Given the description of an element on the screen output the (x, y) to click on. 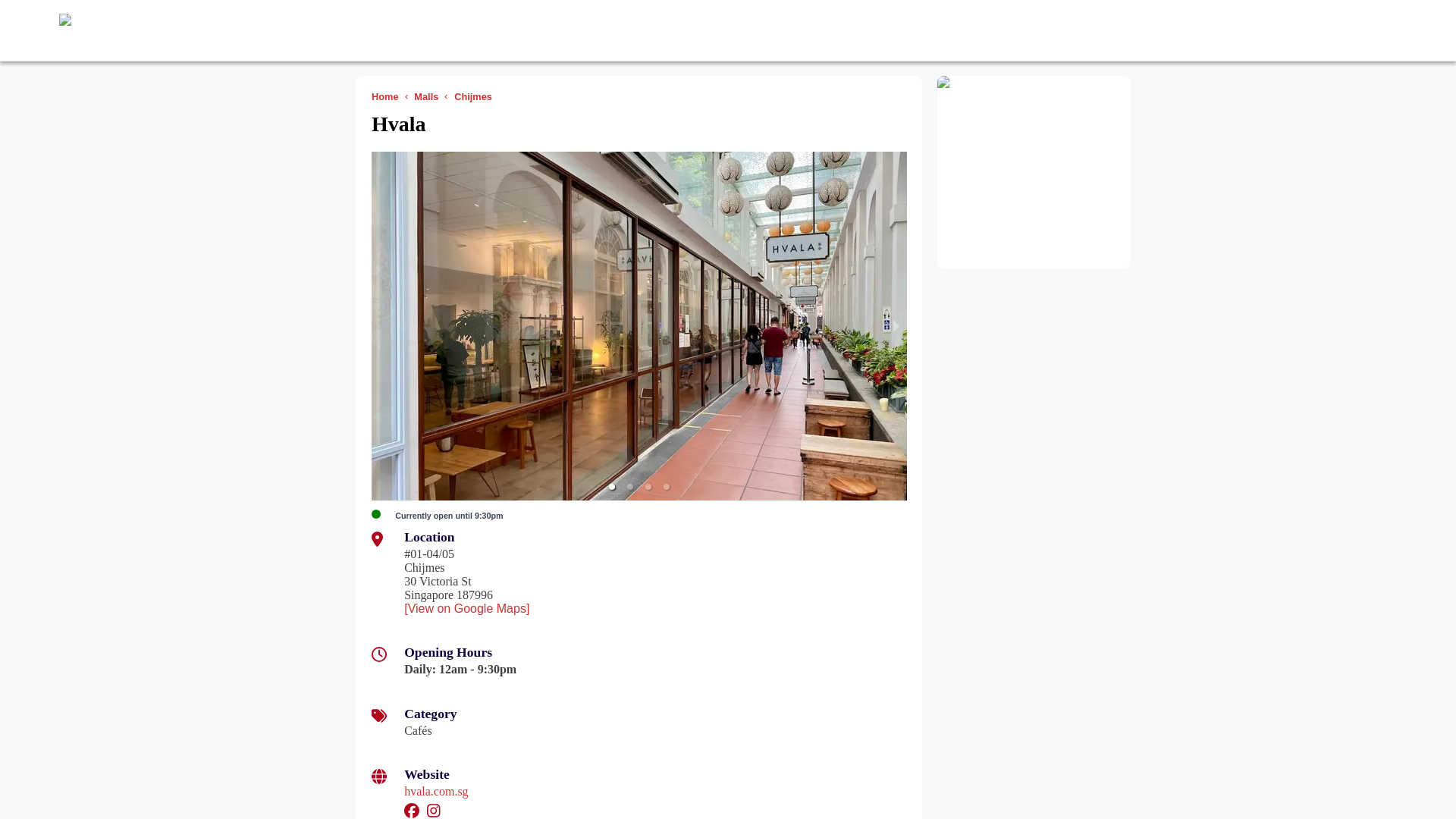
Malls (428, 96)
Home (387, 96)
Malls (428, 96)
Home (387, 96)
Chijmes (475, 96)
hvala.com.sg (435, 790)
Chijmes (475, 96)
